Given the description of an element on the screen output the (x, y) to click on. 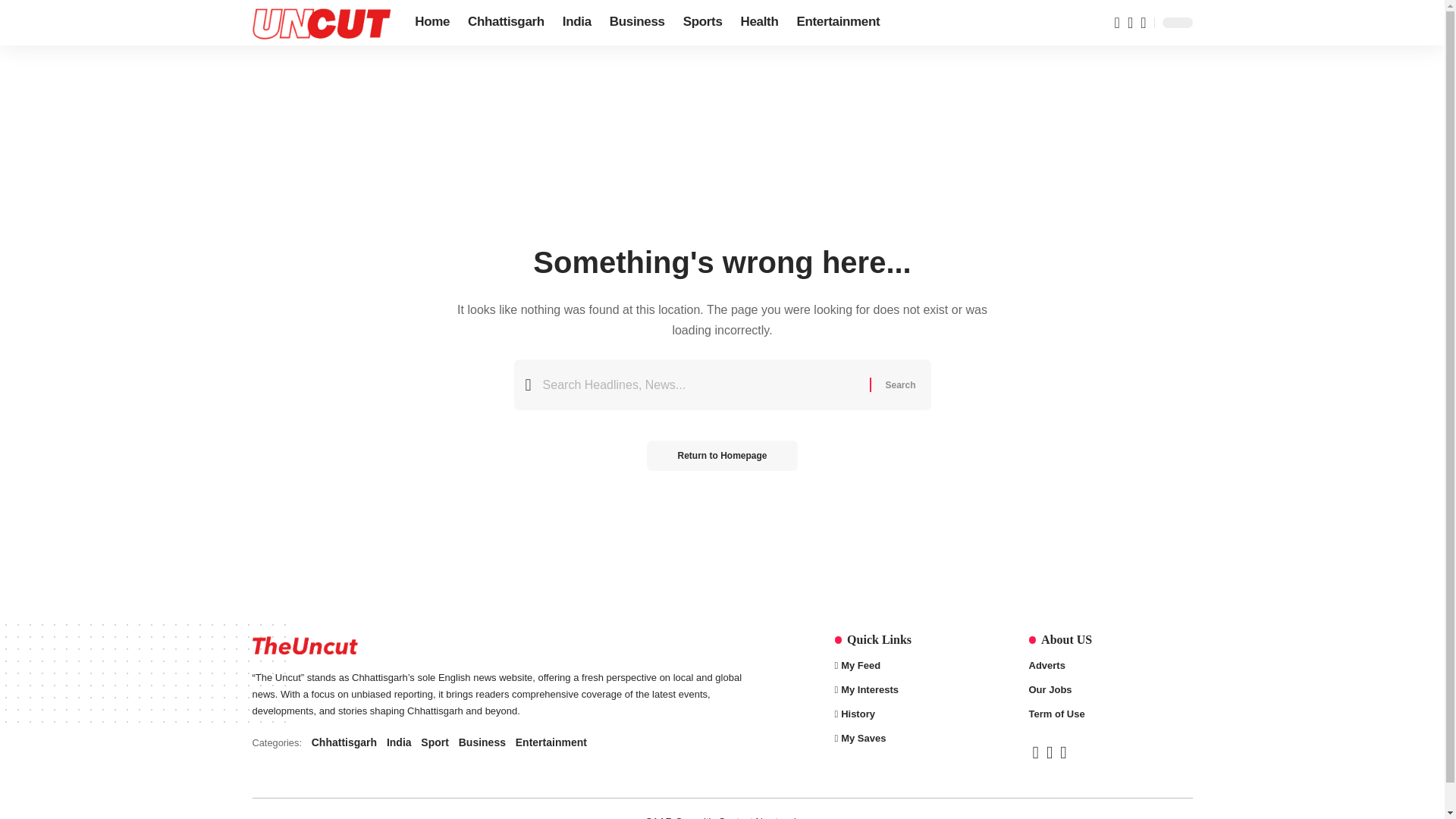
Sports (703, 22)
Home (432, 22)
Business (636, 22)
Return to Homepage (721, 455)
Search (899, 384)
Chhattisgarh (505, 22)
Search (899, 384)
The Uncut (498, 742)
Health (320, 22)
